Given the description of an element on the screen output the (x, y) to click on. 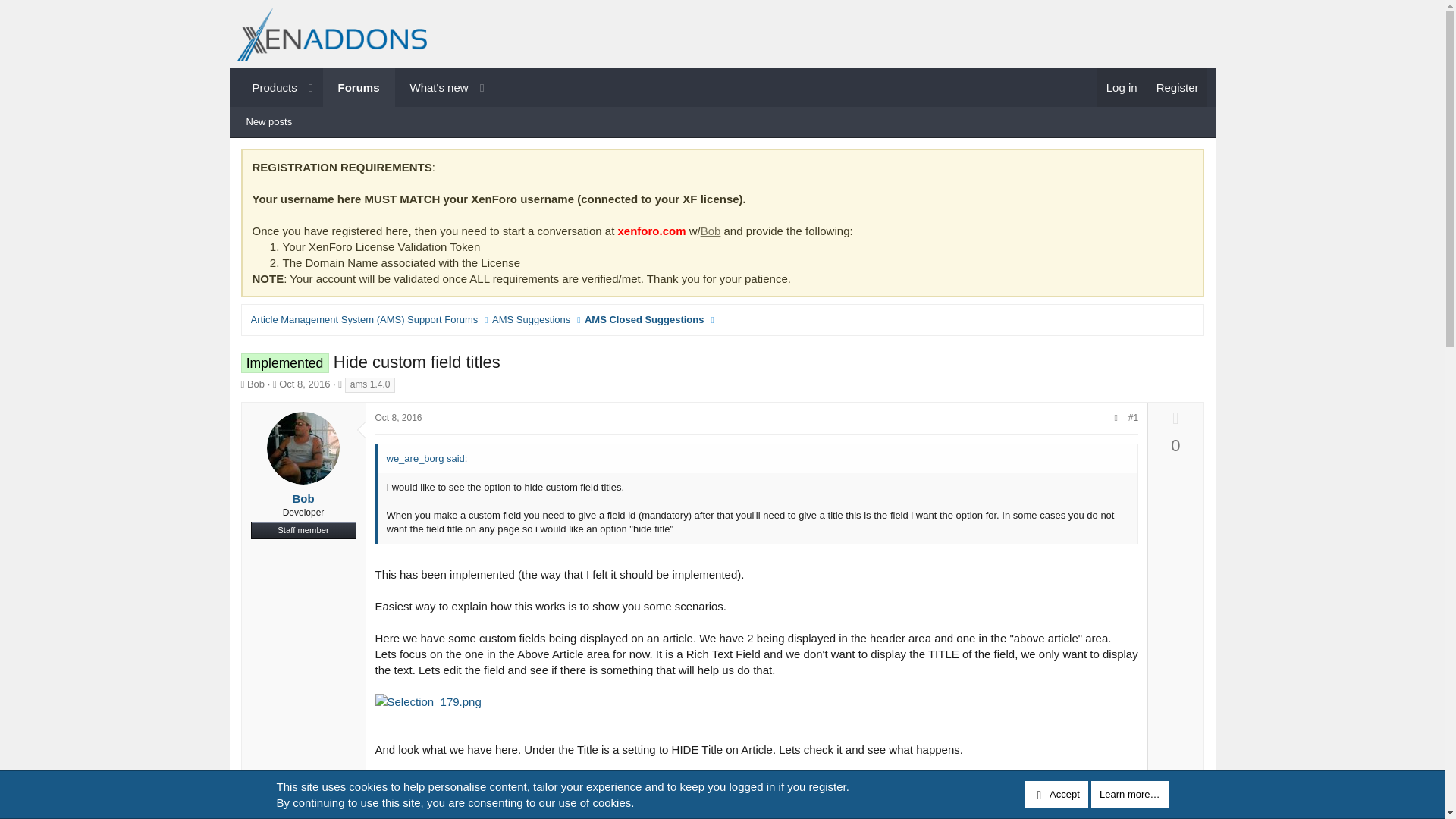
What's new (432, 87)
Log in (1122, 87)
AMS Closed Suggestions (644, 319)
Register (1177, 87)
Forums (358, 87)
ams 1.4.0 (370, 385)
Oct 8, 2016 (304, 383)
Bob (364, 87)
Oct 8, 2016 (710, 230)
